Given the description of an element on the screen output the (x, y) to click on. 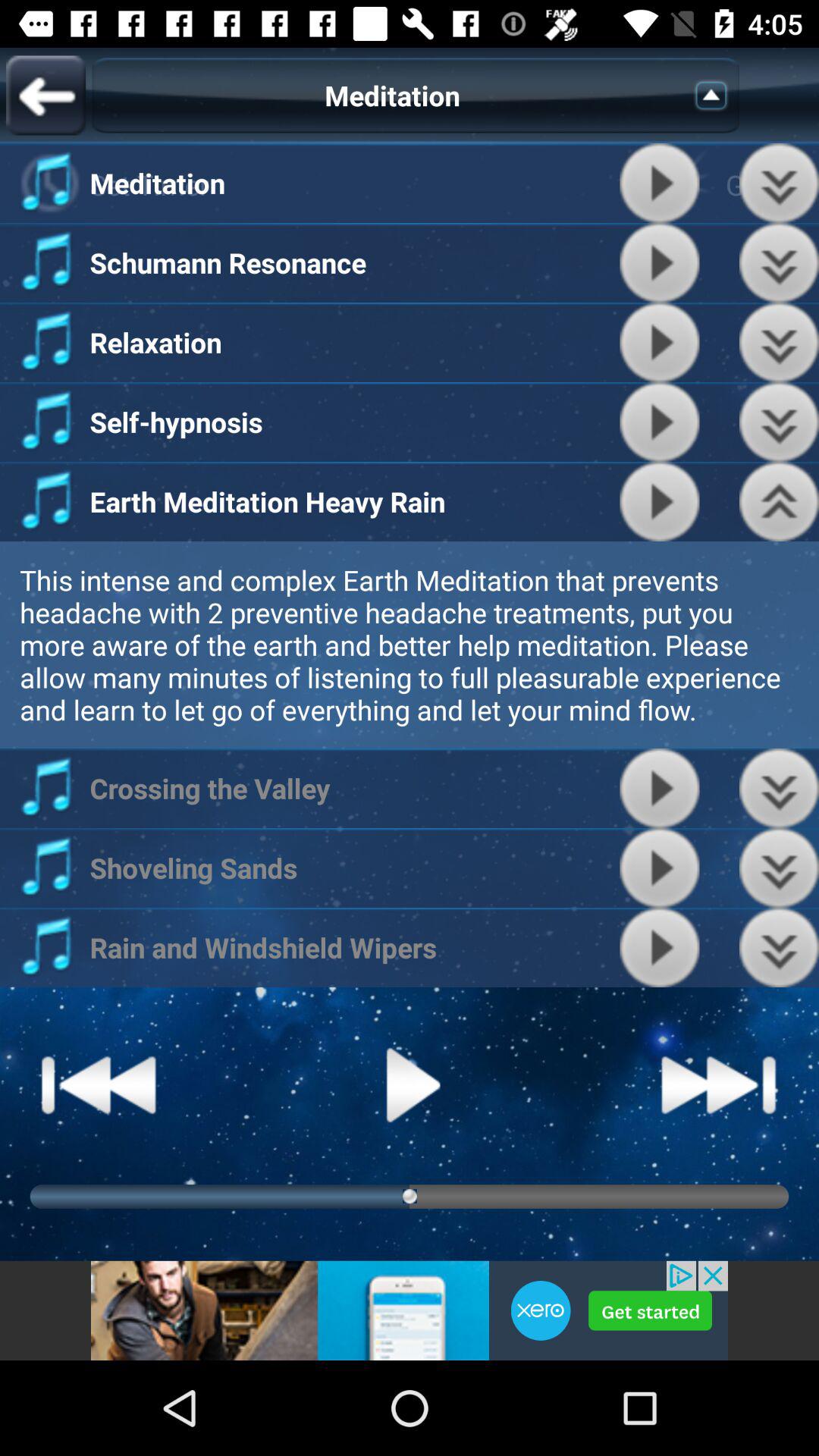
go to previous (45, 95)
